Given the description of an element on the screen output the (x, y) to click on. 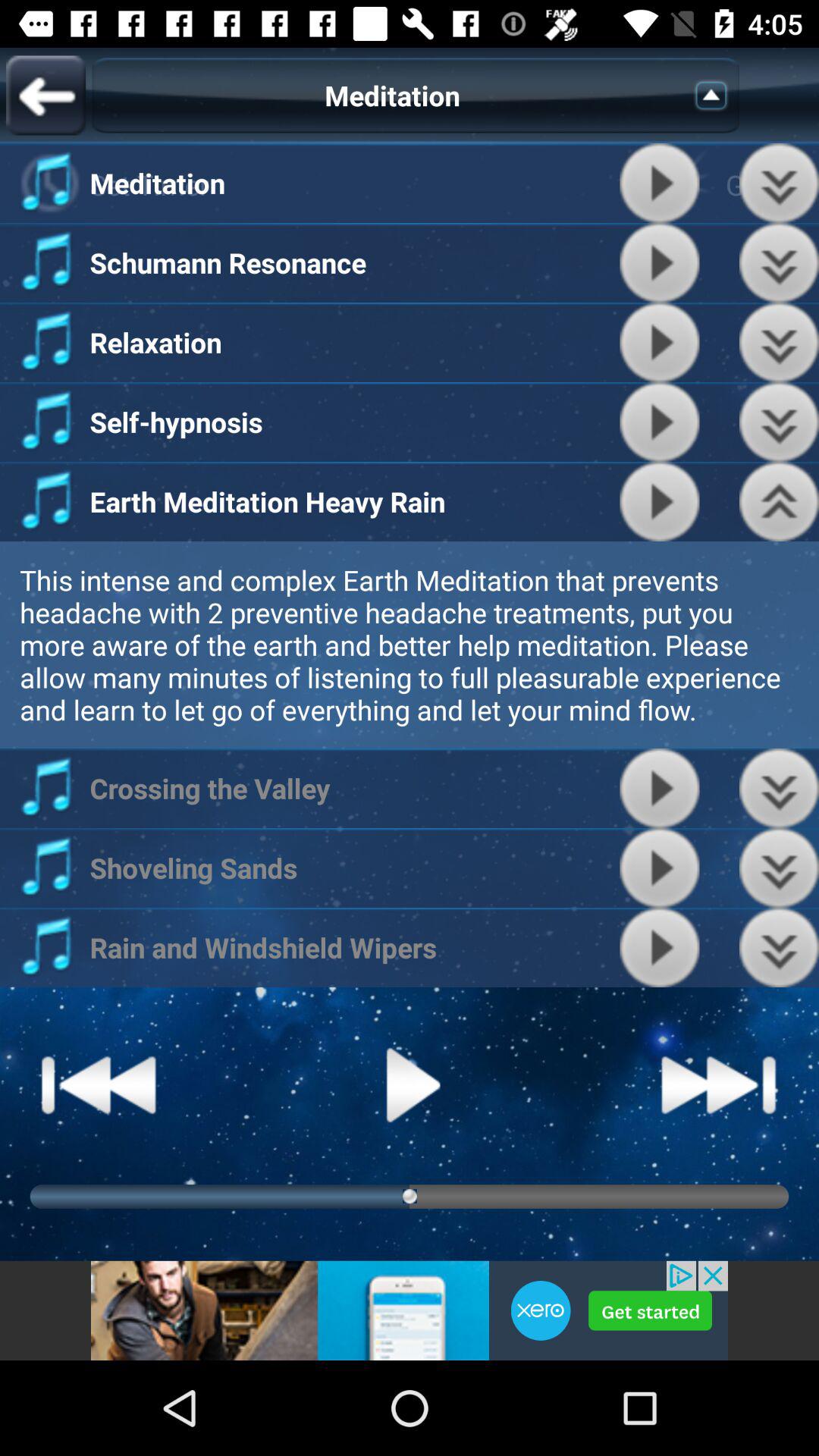
go to previous (45, 95)
